Given the description of an element on the screen output the (x, y) to click on. 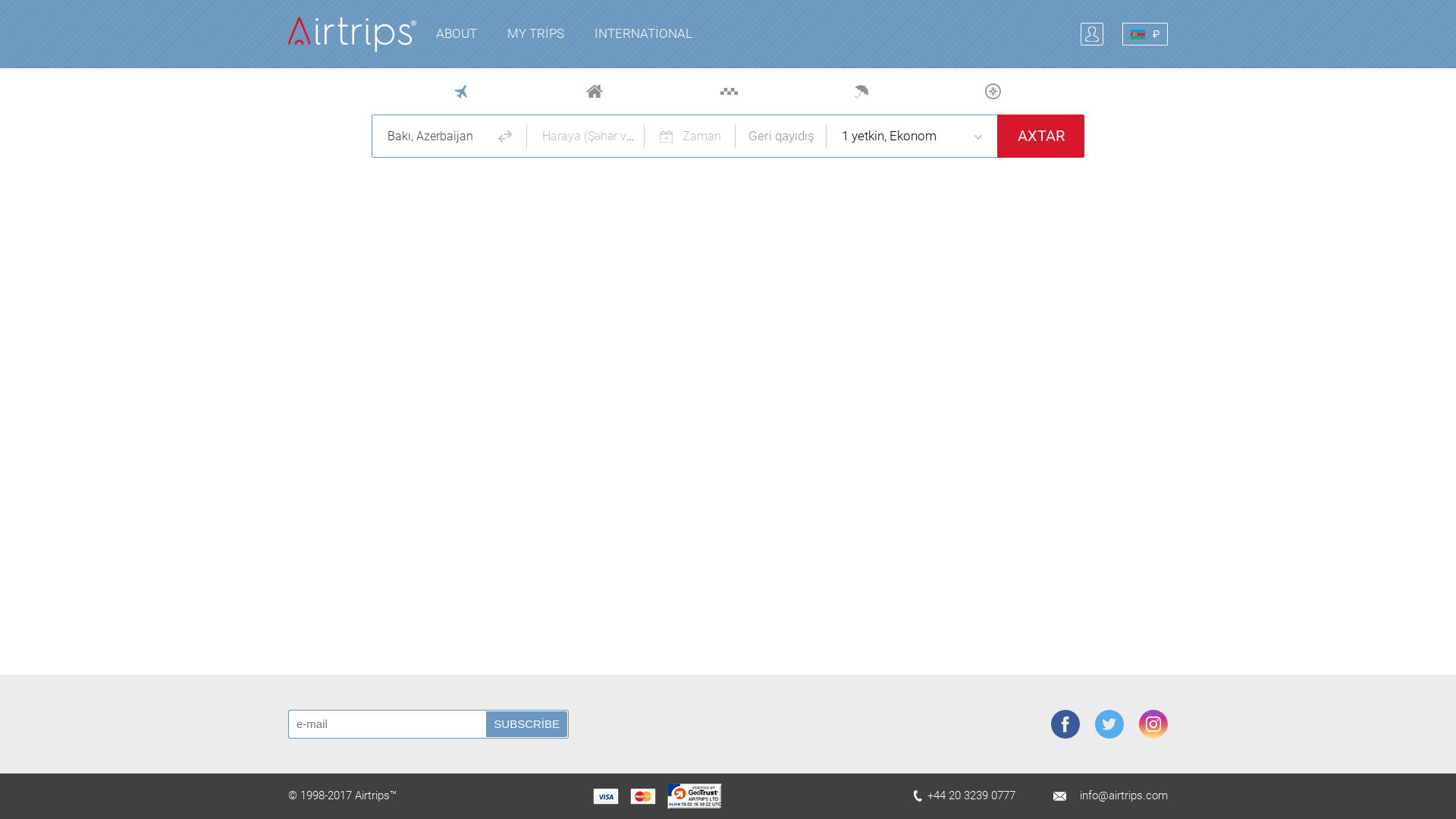
info@airtrips.com Element type: text (1123, 796)
ABOUT Element type: text (456, 33)
SUBSCRIBE Element type: text (527, 723)
INTERNATIONAL Element type: text (643, 33)
AXTAR Element type: text (1040, 135)
MY TRIPS Element type: text (535, 33)
